Given the description of an element on the screen output the (x, y) to click on. 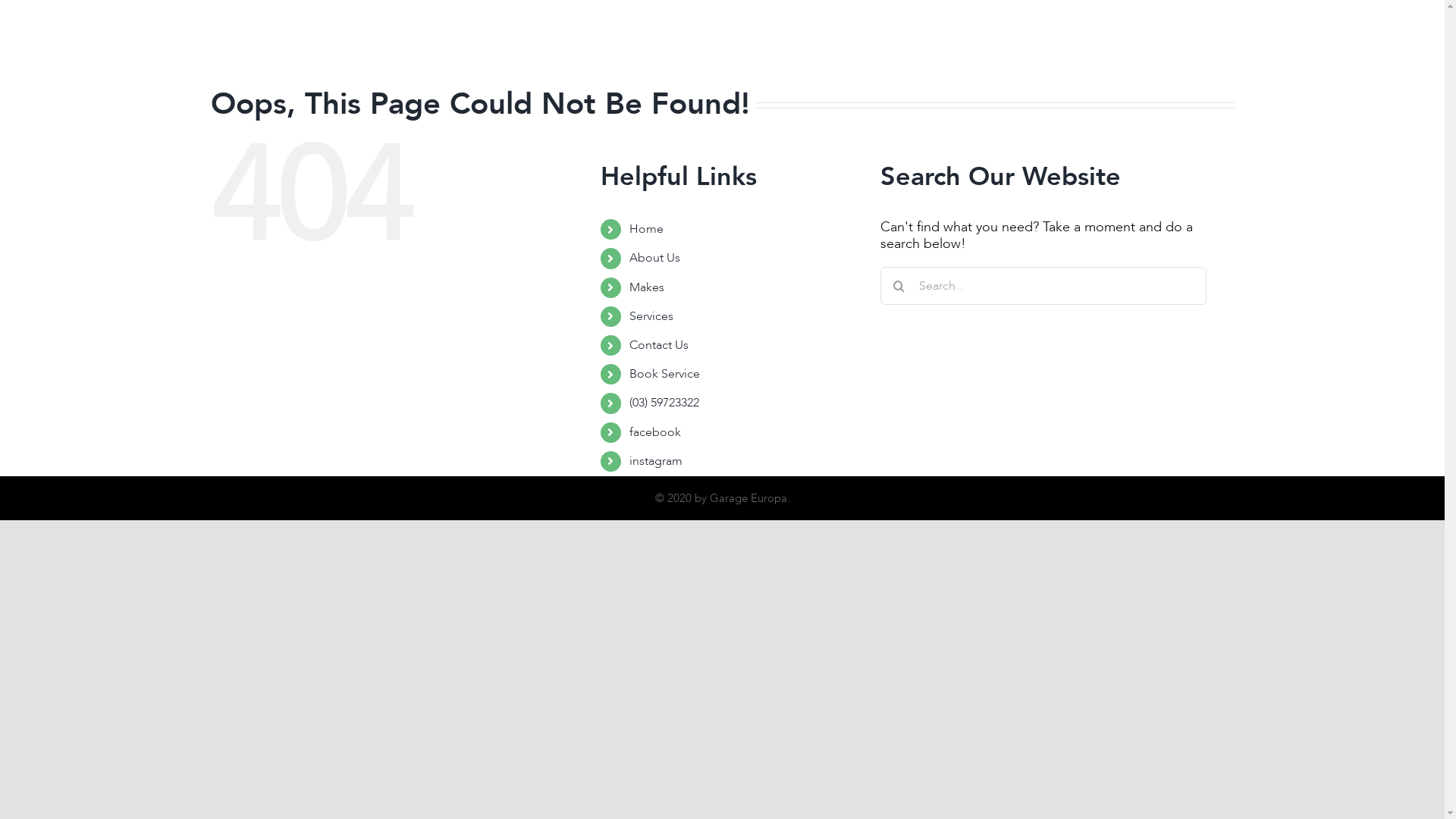
instagram Element type: text (655, 460)
About Us Element type: text (654, 257)
Contact Us Element type: text (869, 39)
Book Service Element type: text (664, 373)
Services Element type: text (797, 39)
(03) 59723322
77 Watt Rd, Mornington, VIC Element type: text (1074, 39)
(03) 59723322 Element type: text (664, 402)
About Us Element type: text (672, 39)
Home Element type: text (610, 39)
Services Element type: text (651, 315)
Makes Element type: text (646, 287)
Contact Us Element type: text (658, 344)
Makes Element type: text (737, 39)
Home Element type: text (646, 228)
Book Service Element type: text (957, 39)
facebook Element type: text (654, 431)
